Given the description of an element on the screen output the (x, y) to click on. 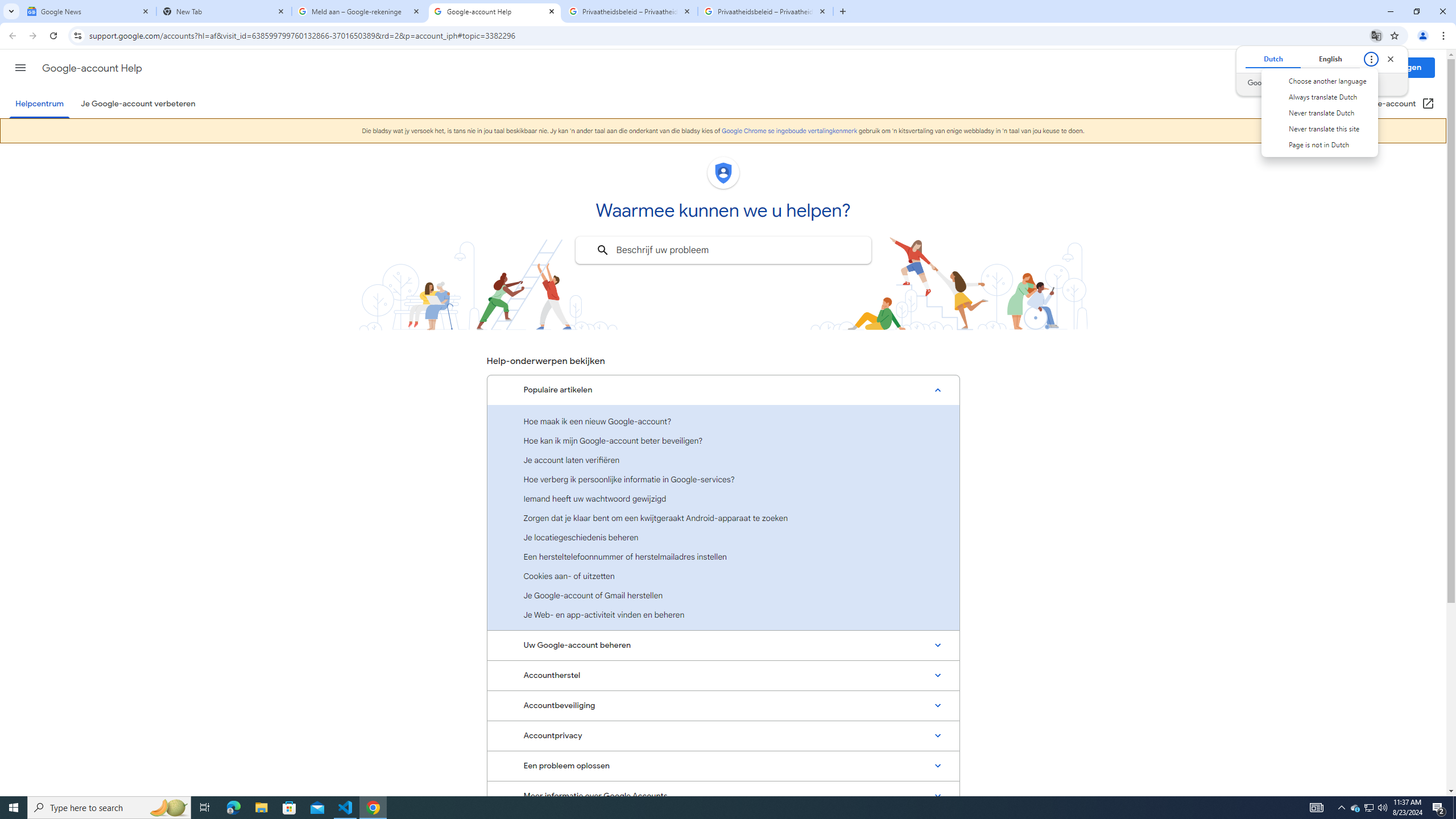
Search highlights icon opens search home window (167, 807)
Choose another language (1318, 80)
Google-account Help (91, 68)
Running applications (717, 807)
Je Google-account of Gmail herstellen (722, 595)
File Explorer (261, 807)
Microsoft Store (289, 807)
New Tab (224, 11)
Visual Studio Code - 1 running window (345, 807)
Populaire artikelen, Uitgevouwen lijst met 11 items (722, 389)
Meer informatie over Google Accounts (722, 795)
Accountbeveiliging (722, 705)
